Given the description of an element on the screen output the (x, y) to click on. 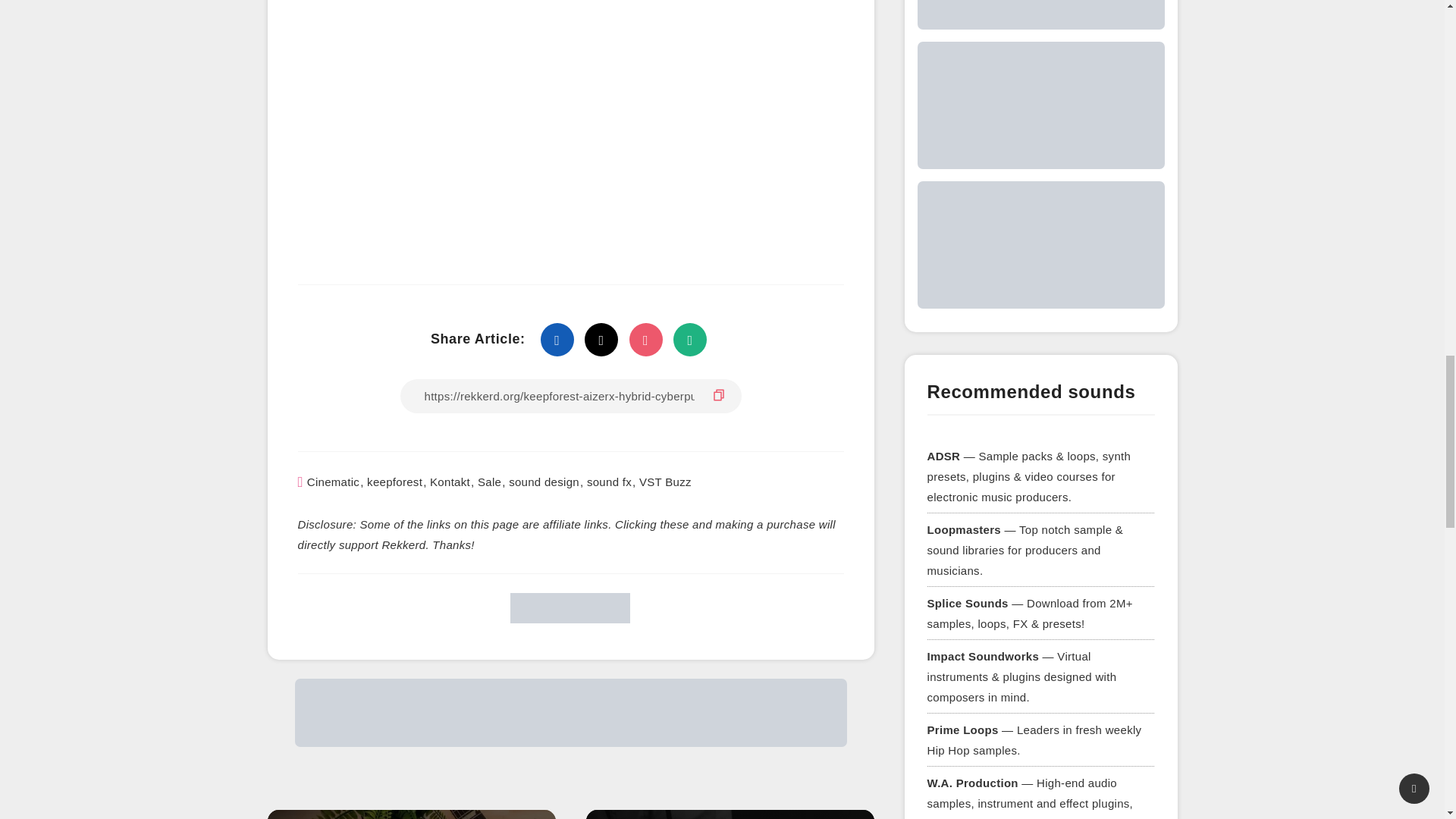
Sale (488, 481)
Kontakt (449, 481)
sound fx (608, 481)
sound design (543, 481)
VST Buzz (665, 481)
Cinematic (333, 481)
Aizerx: Hybrid Cyberpunk Trailer Toolkit -  Walkthrough (570, 109)
keepforest (394, 481)
